Given the description of an element on the screen output the (x, y) to click on. 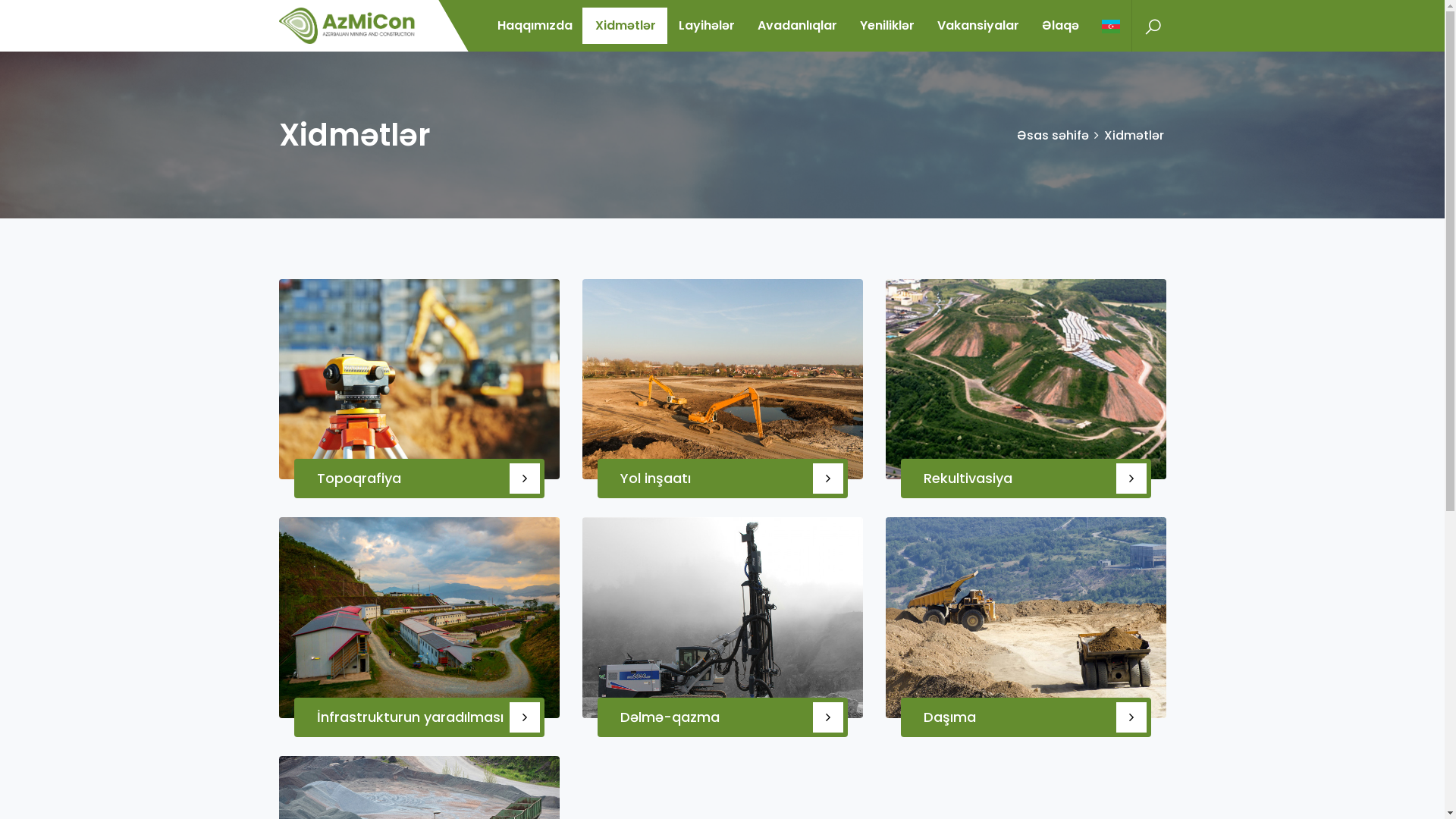
Topoqrafiya Element type: text (358, 477)
Vakansiyalar Element type: text (977, 25)
Rekultivasiya Element type: text (967, 477)
